Given the description of an element on the screen output the (x, y) to click on. 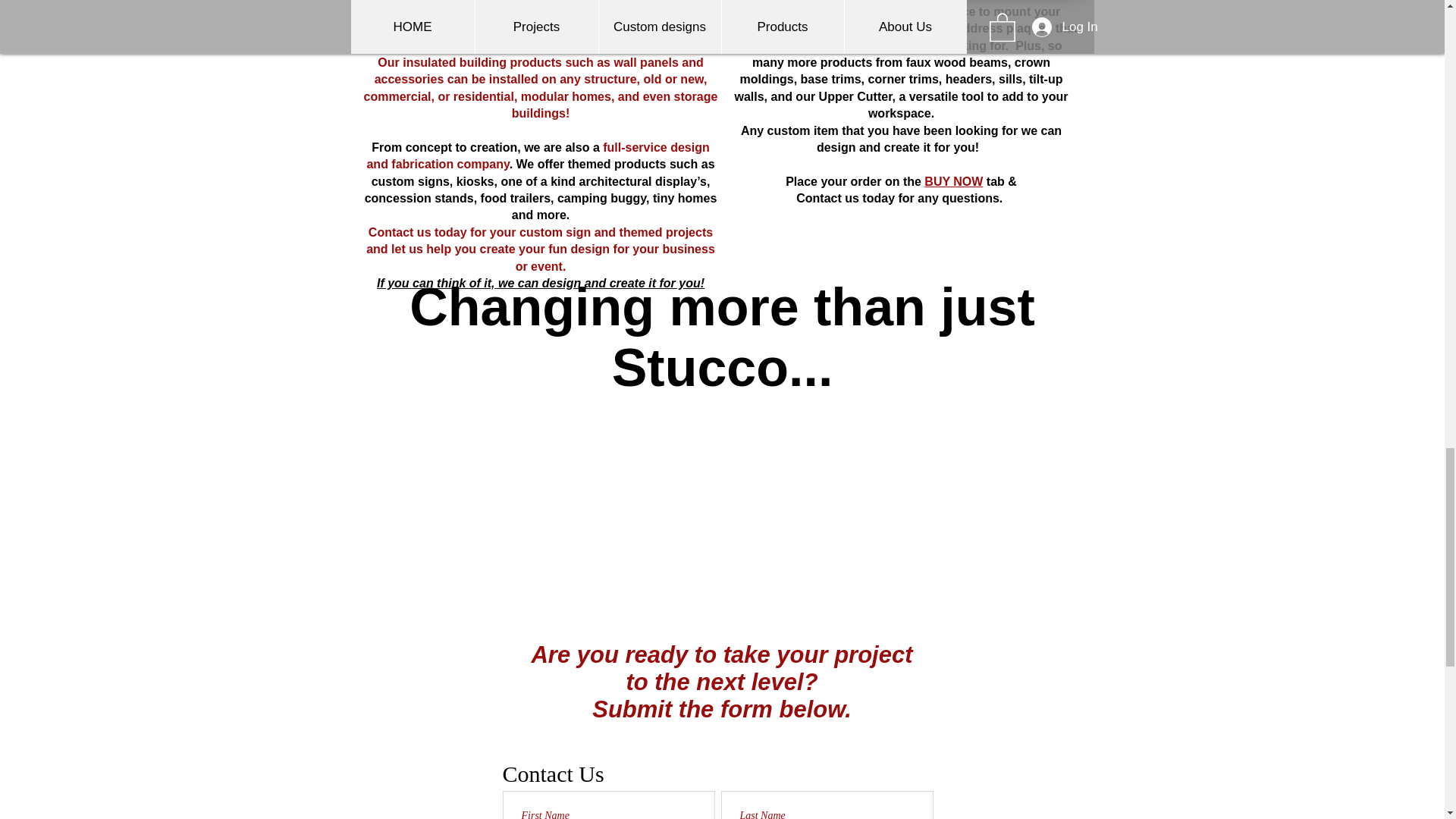
BUY NOW (953, 181)
